Given the description of an element on the screen output the (x, y) to click on. 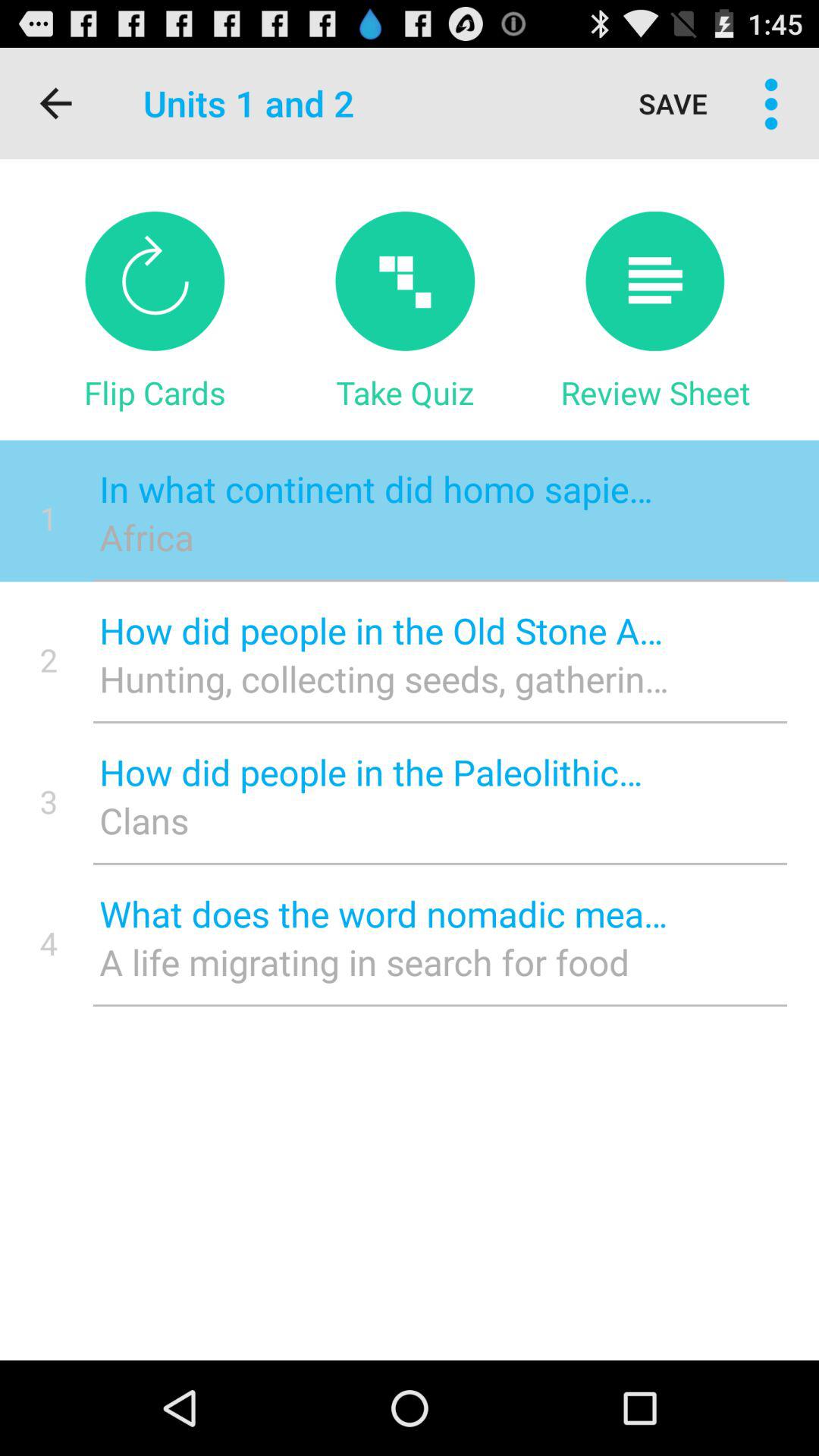
click the icon to the right of the take quiz icon (655, 392)
